Given the description of an element on the screen output the (x, y) to click on. 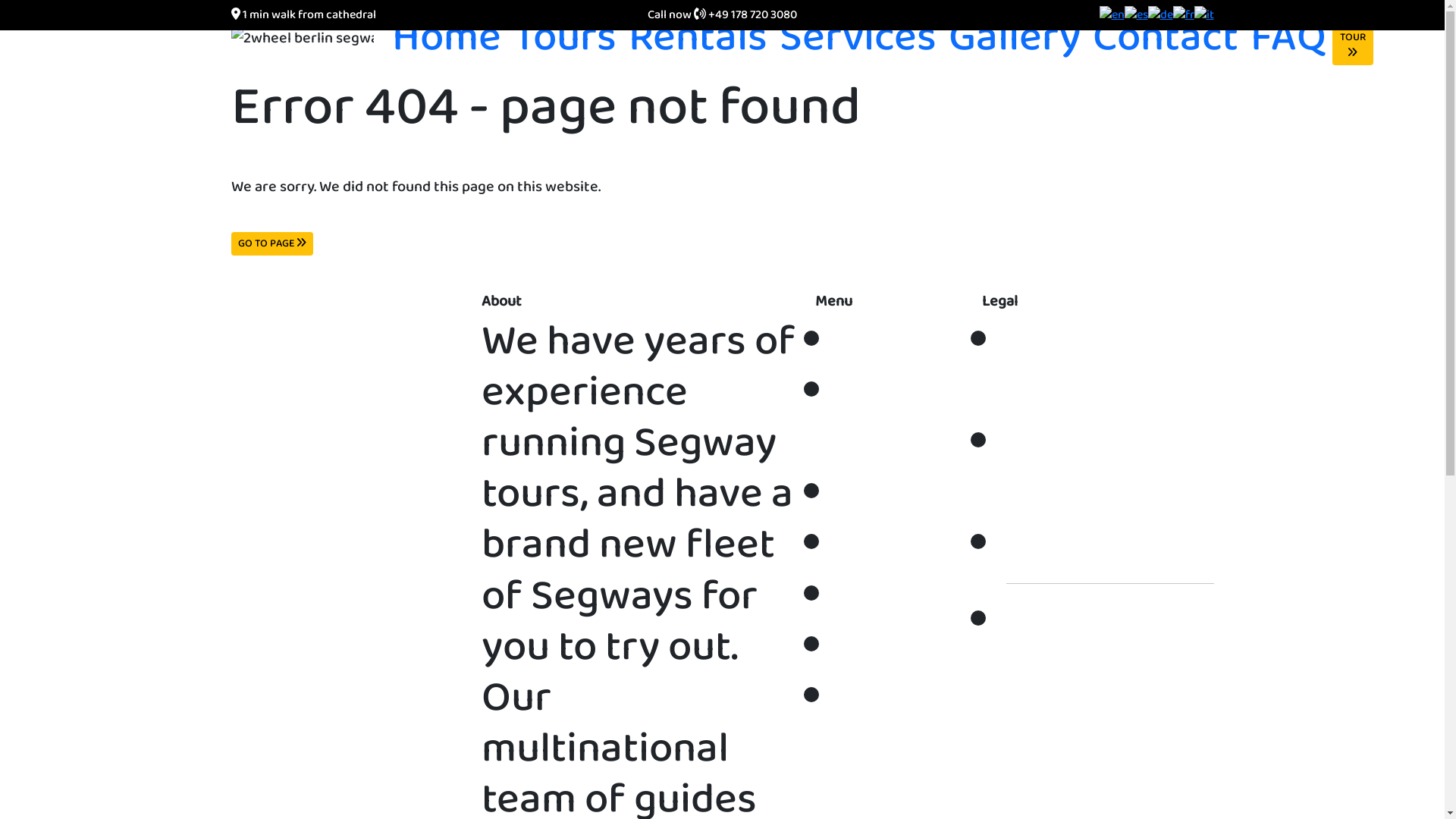
Services Element type: text (916, 544)
Home Element type: text (892, 341)
FAQ Element type: text (1287, 37)
Stuff Element type: text (1053, 621)
Tours Element type: text (563, 37)
Segway Tours Element type: text (909, 417)
GO TO PAGE Element type: text (271, 243)
Rentals Element type: text (696, 37)
Legal Terms Element type: text (1062, 468)
Contact Element type: text (1164, 37)
Services Element type: text (857, 37)
Cookies Element type: text (1078, 544)
Home Element type: text (445, 37)
Gallery Element type: text (904, 596)
BOOK TOUR Element type: text (1351, 37)
Contact Element type: text (911, 646)
Privacy Policy Element type: text (1073, 366)
Gallery Element type: text (1013, 37)
Rentals Element type: text (907, 493)
FAQ Element type: text (876, 697)
